Given the description of an element on the screen output the (x, y) to click on. 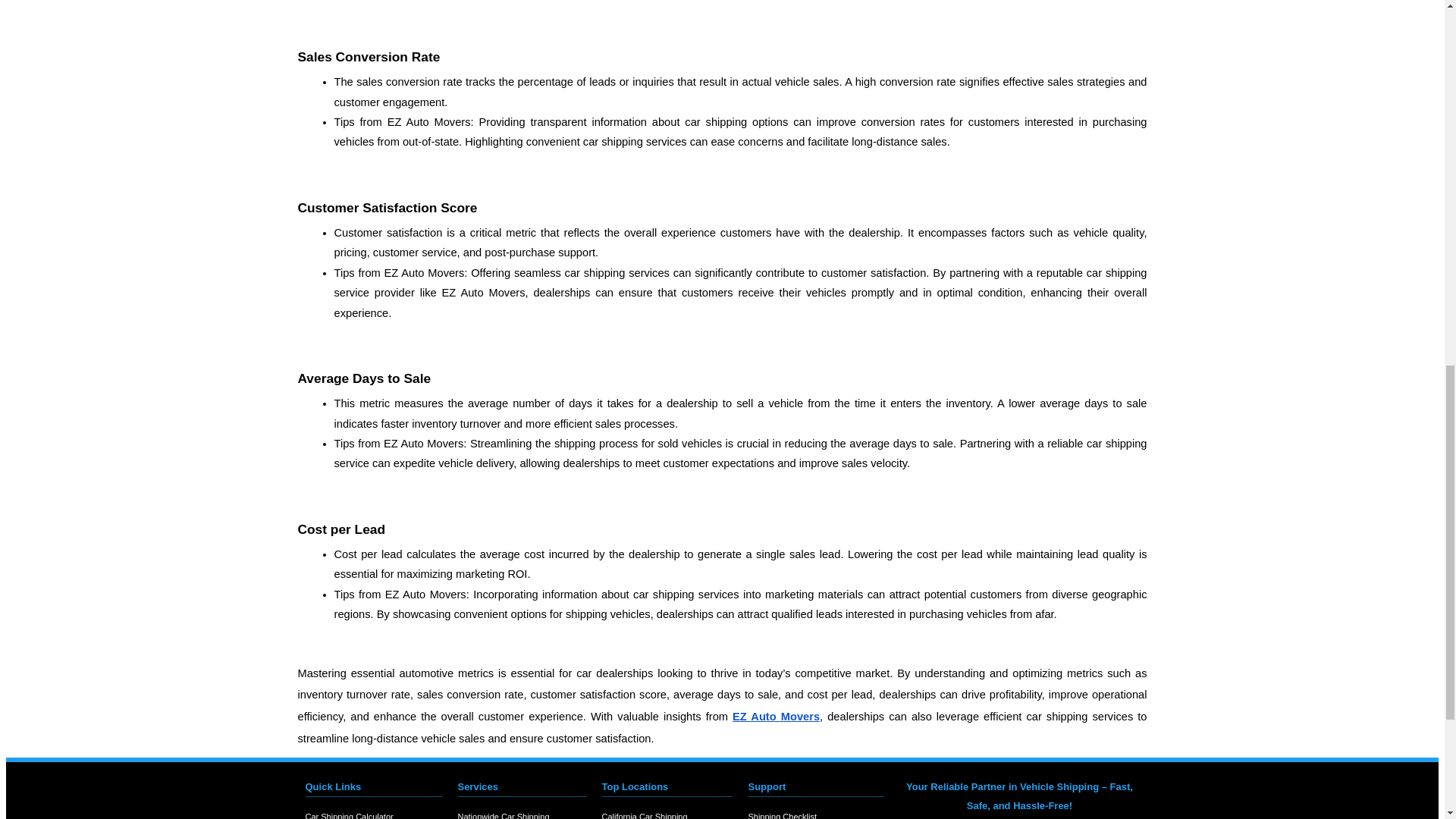
Car Shipping Calculator (373, 815)
Nationwide Car Shipping (521, 815)
EZ Auto Movers (775, 716)
